Given the description of an element on the screen output the (x, y) to click on. 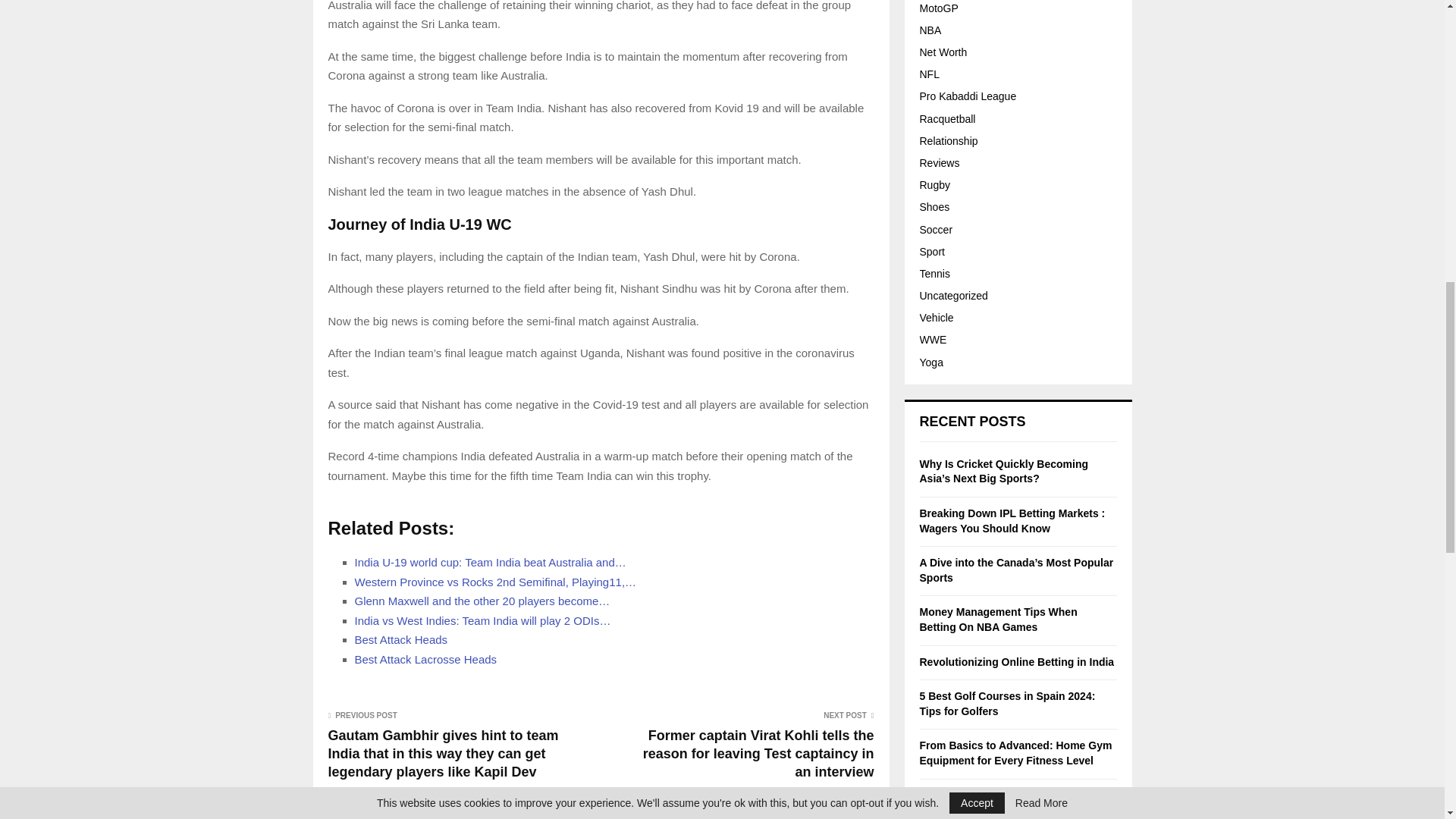
Best Attack Lacrosse Heads (426, 658)
Best Attack Heads (401, 639)
Posts by Grga Cockett (461, 816)
Grga Cockett (461, 816)
